Given the description of an element on the screen output the (x, y) to click on. 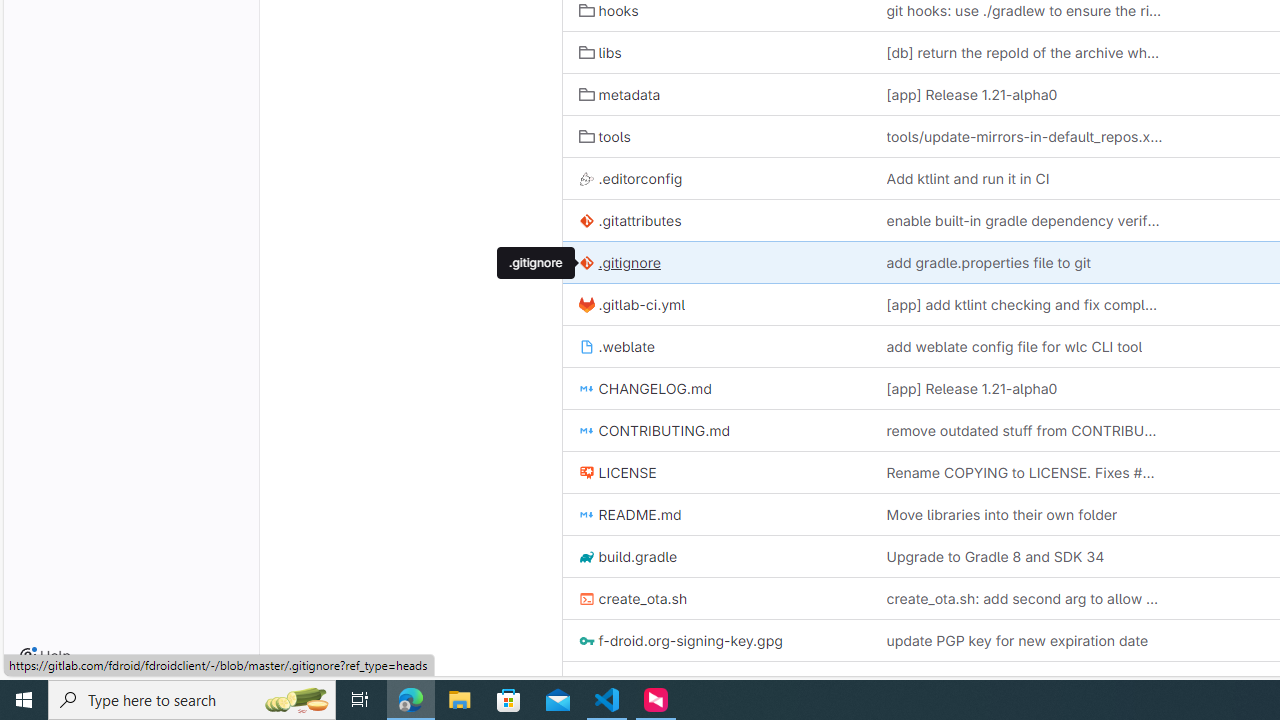
Add ktlint and run it in CI (967, 178)
Class: s16 position-relative file-icon (586, 683)
.gitignore (619, 262)
build.gradle (715, 556)
gradle.properties (645, 682)
LICENSE (617, 472)
[app] add ktlint checking and fix complaints it has (1024, 304)
update PGP key for new expiration date (1024, 640)
metadata (619, 94)
enable built-in gradle dependency verification (1024, 219)
f-droid.org-signing-key.gpg (715, 640)
metadata (715, 93)
CONTRIBUTING.md (654, 430)
Add ktlint and run it in CI (1024, 178)
